Given the description of an element on the screen output the (x, y) to click on. 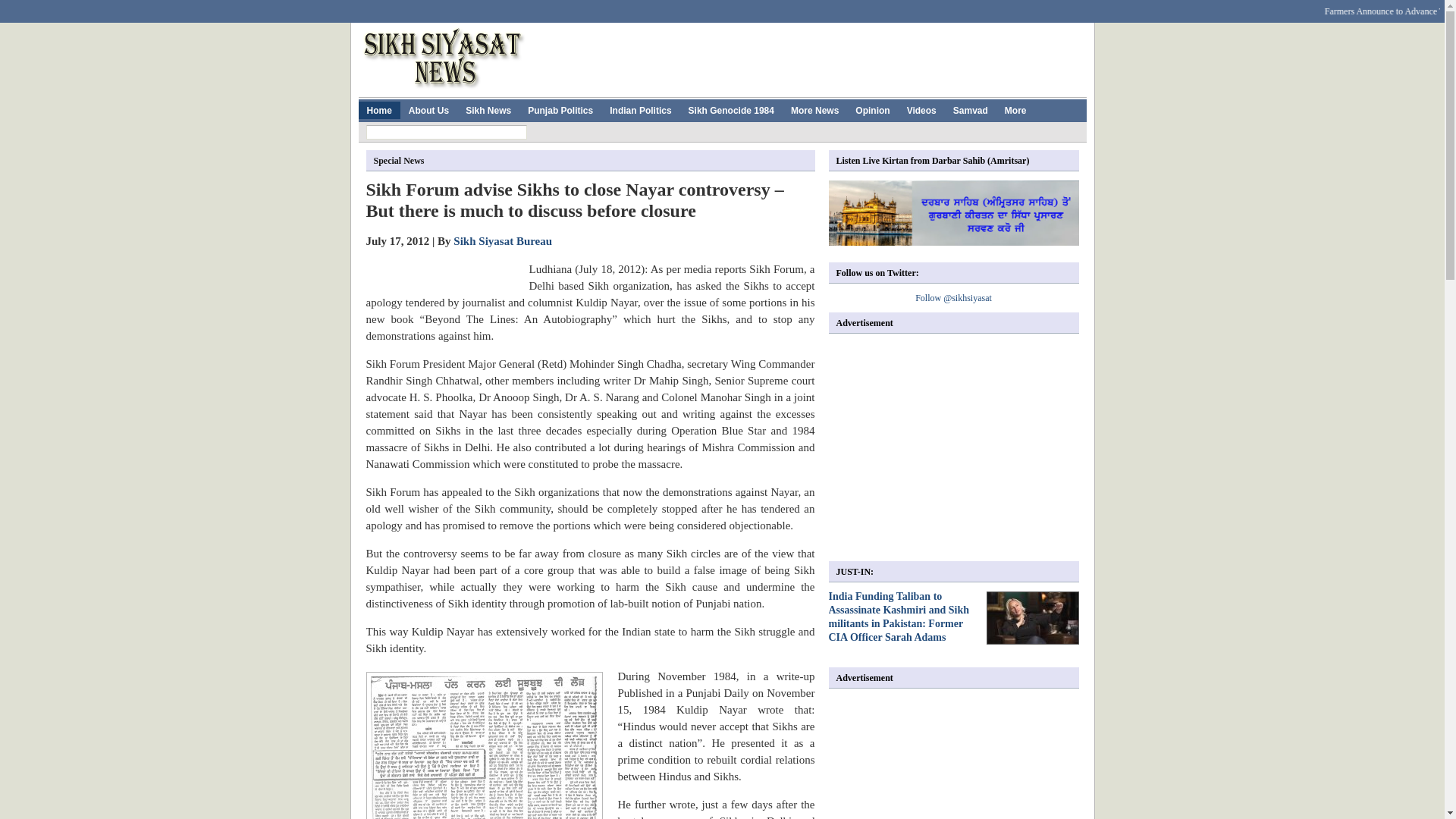
Advertisement (955, 447)
Posts by Sikh Siyasat Bureau (501, 241)
About Us (428, 109)
More News (815, 109)
Punjab Politics (560, 109)
More (1015, 109)
Facebook (471, 6)
Subscribe to our RSS feed (1046, 6)
Indian Politics (640, 109)
Samvad (969, 109)
Subscribe to our RSS feed (1046, 6)
Advertisement (810, 56)
Twitter (502, 6)
Opinion (872, 109)
Sikh News (488, 109)
